Given the description of an element on the screen output the (x, y) to click on. 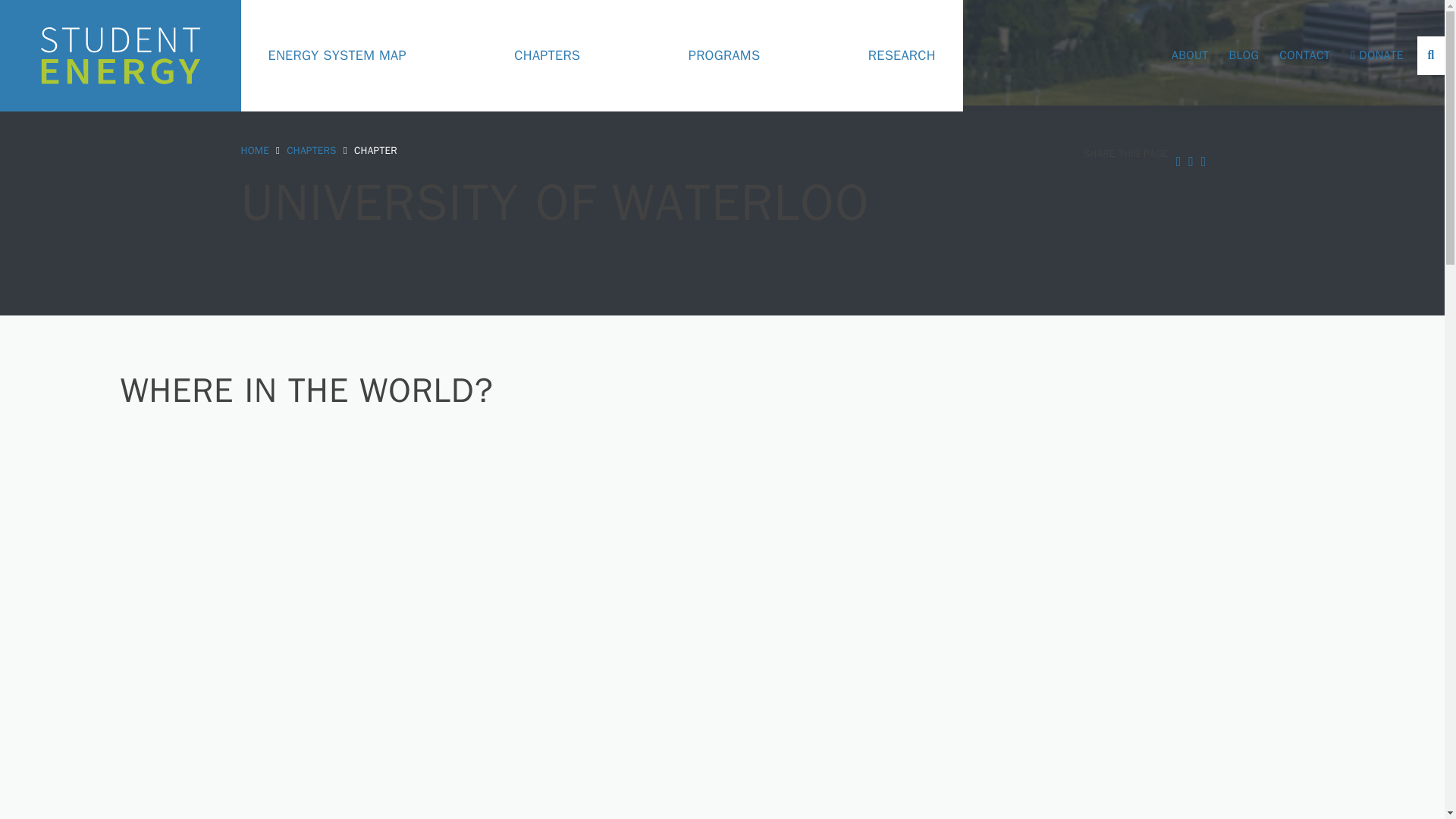
HOME (255, 150)
BLOG (1244, 55)
CHAPTERS (311, 150)
CHAPTERS (546, 55)
RESEARCH (901, 55)
CONTACT (1304, 55)
PROGRAMS (724, 55)
DONATE (1376, 55)
ENERGY SYSTEM MAP (336, 55)
ABOUT (1189, 55)
